Given the description of an element on the screen output the (x, y) to click on. 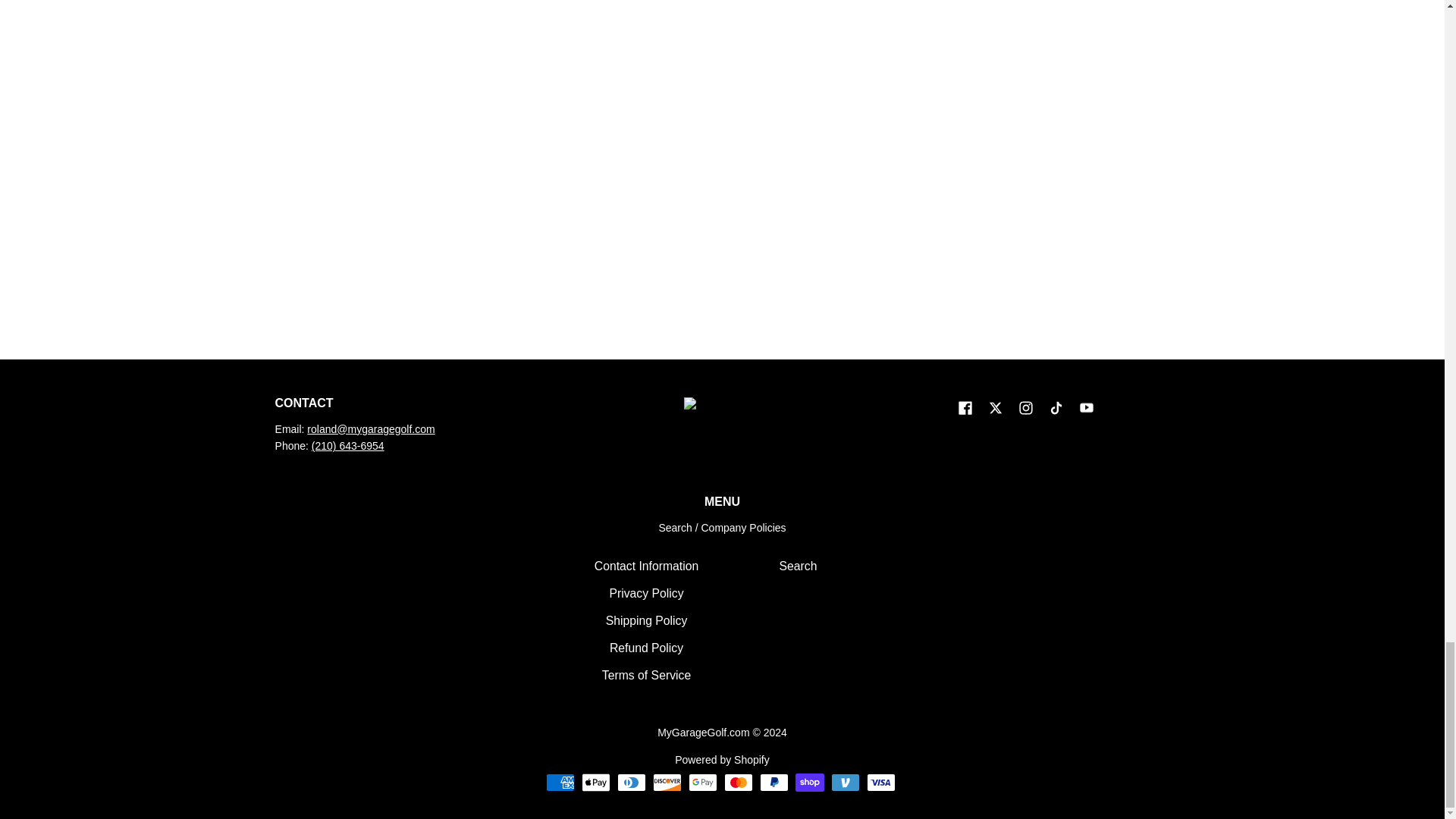
American Express (560, 782)
Discover (666, 782)
Diners Club (631, 782)
Apple Pay (595, 782)
